Given the description of an element on the screen output the (x, y) to click on. 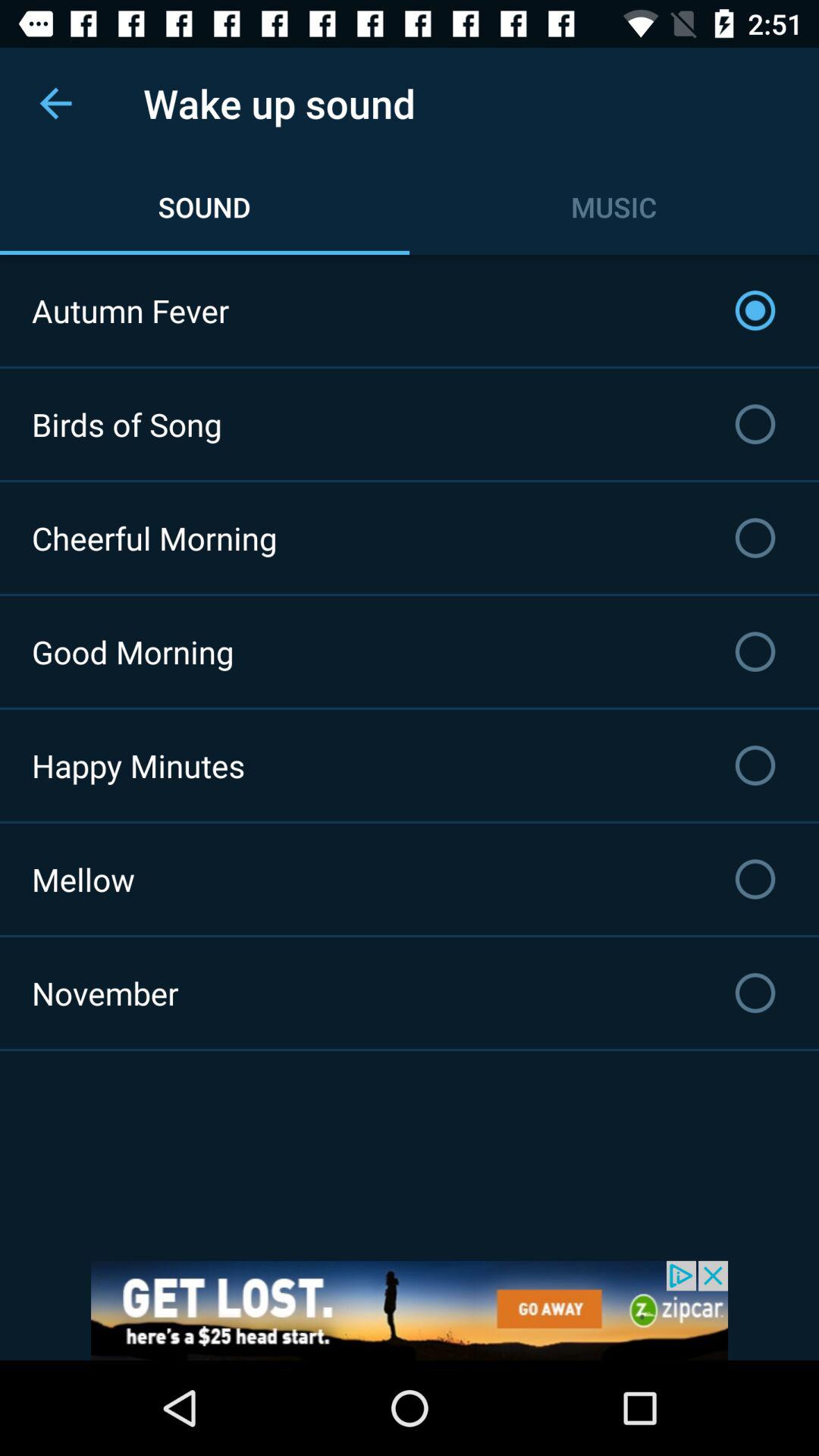
click advertisement (409, 1310)
